Given the description of an element on the screen output the (x, y) to click on. 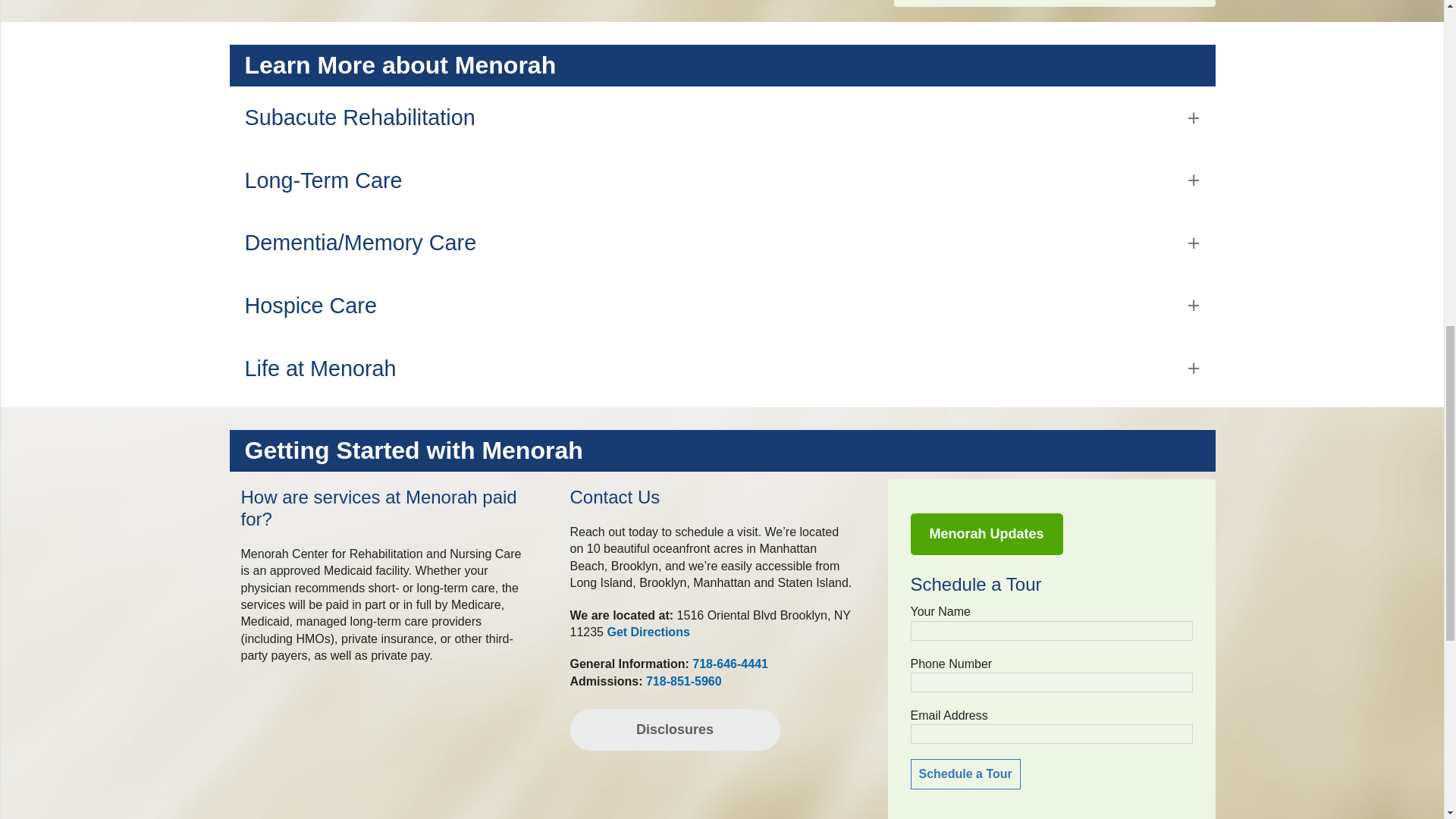
Schedule a Tour (965, 774)
